Given the description of an element on the screen output the (x, y) to click on. 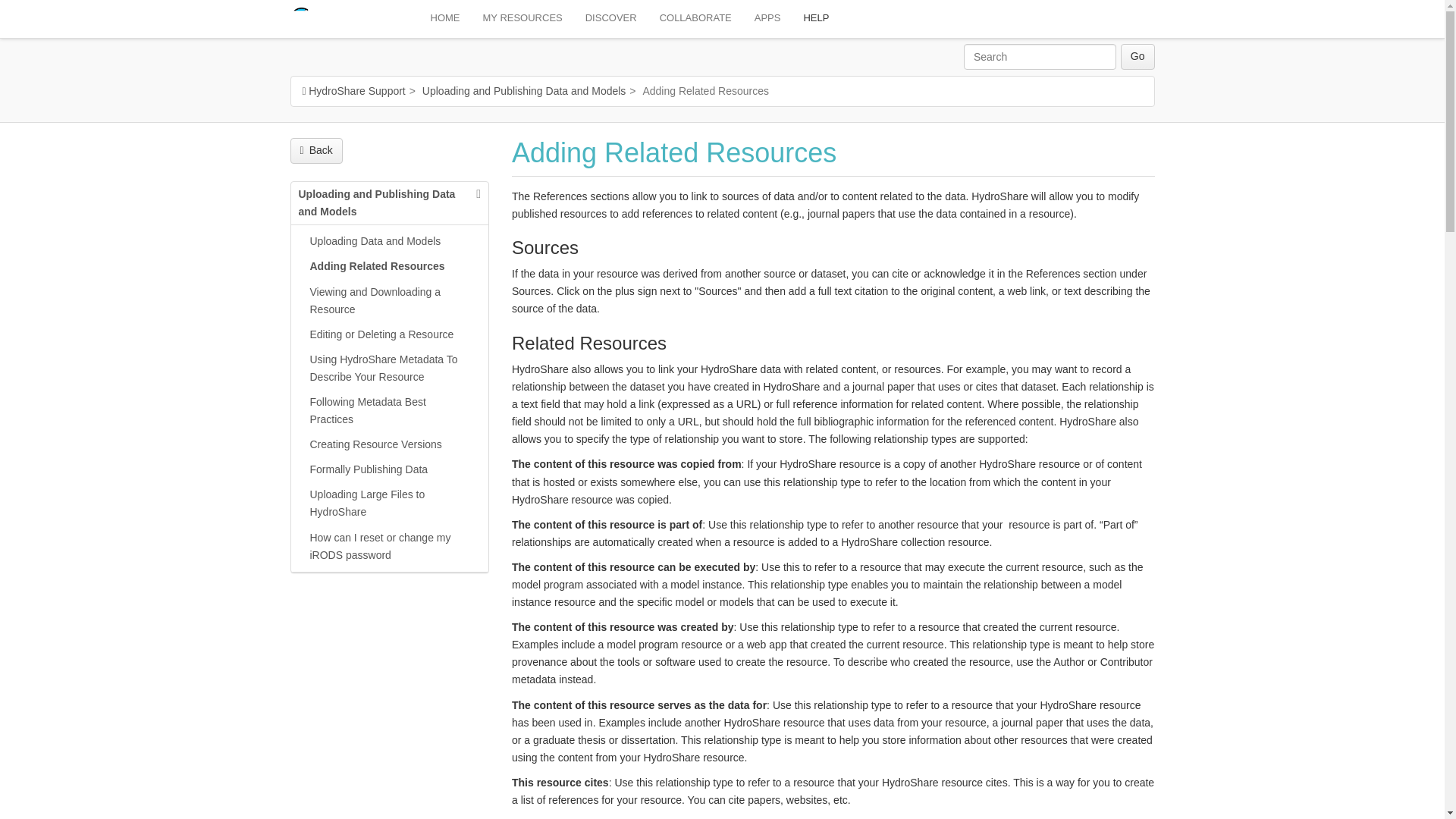
HELP (816, 18)
APPS (767, 18)
COLLABORATE (694, 18)
Uploading and Publishing Data and Models (524, 91)
DISCOVER (610, 18)
 Back (315, 150)
Go (1137, 56)
MY RESOURCES (522, 18)
HOME (444, 18)
Go (1137, 56)
